Given the description of an element on the screen output the (x, y) to click on. 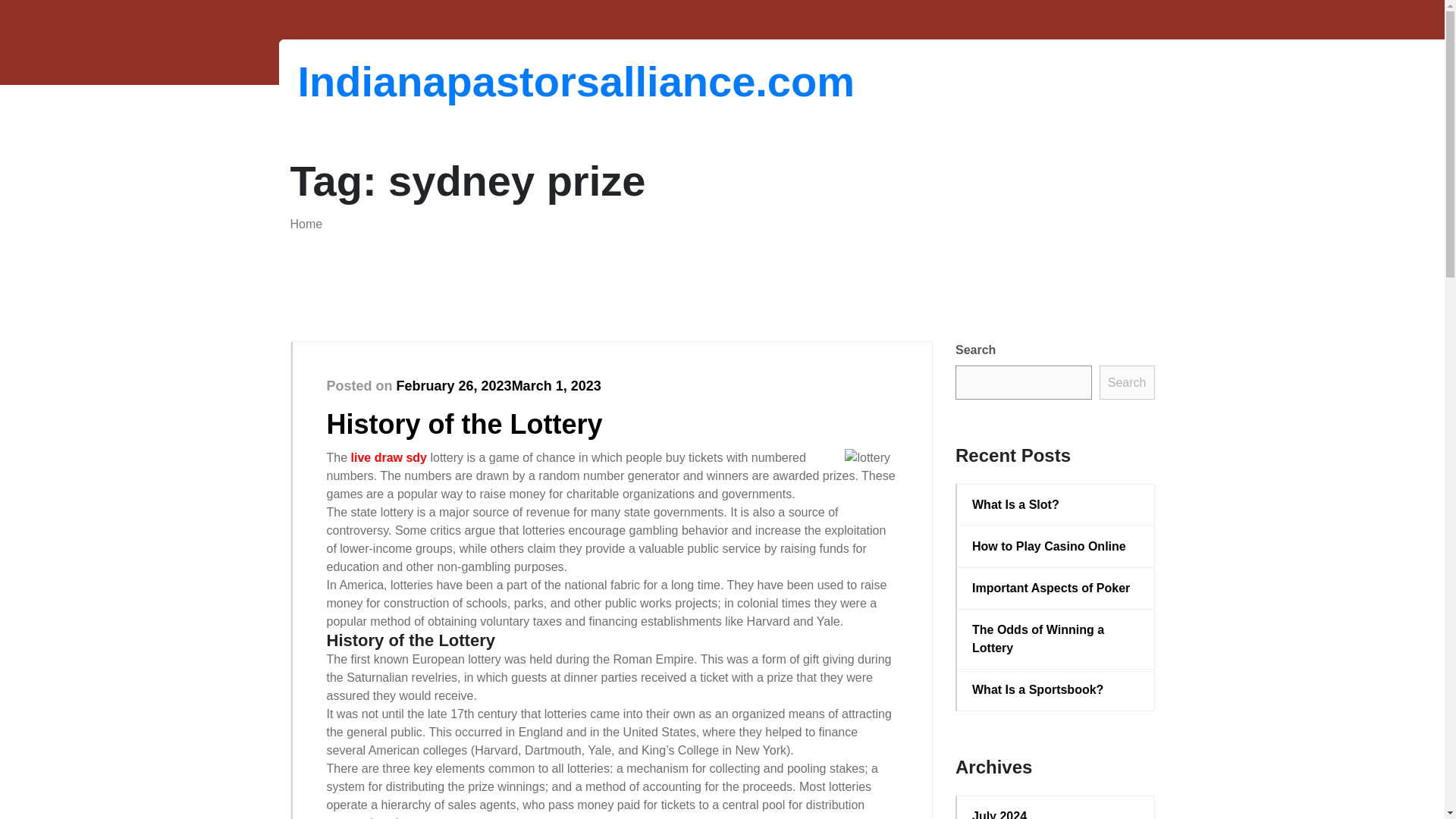
Important Aspects of Poker (1055, 588)
What Is a Slot? (1055, 505)
What Is a Sportsbook? (1055, 689)
History of the Lottery (464, 423)
February 26, 2023March 1, 2023 (498, 385)
Home (305, 223)
How to Play Casino Online (1055, 546)
live draw sdy (389, 457)
July 2024 (1055, 813)
Indianapastorsalliance.com (376, 81)
Search (1126, 382)
The Odds of Winning a Lottery (1055, 638)
